Given the description of an element on the screen output the (x, y) to click on. 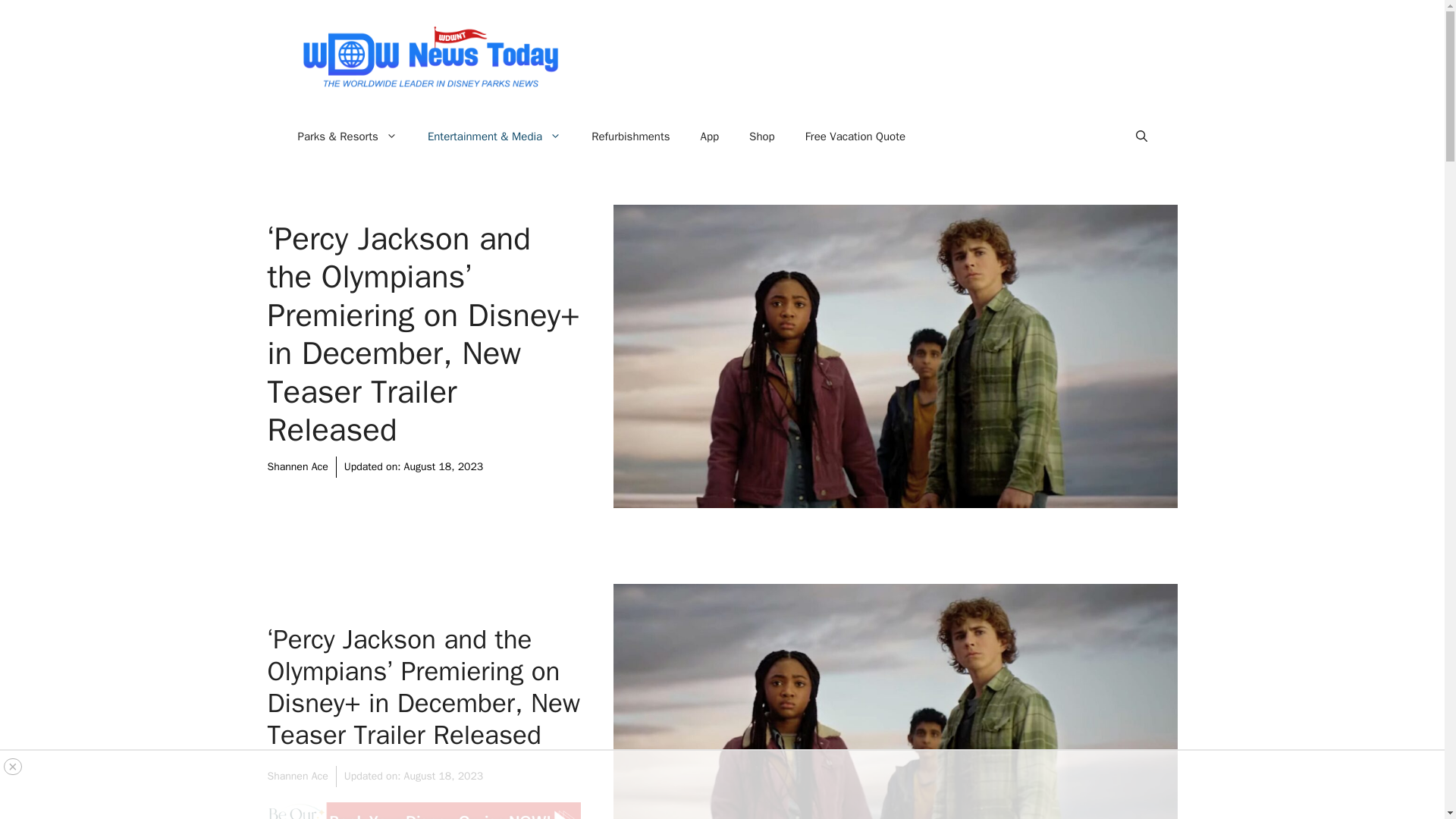
App (710, 135)
Shop (761, 135)
Refurbishments (630, 135)
Free Vacation Quote (855, 135)
